Given the description of an element on the screen output the (x, y) to click on. 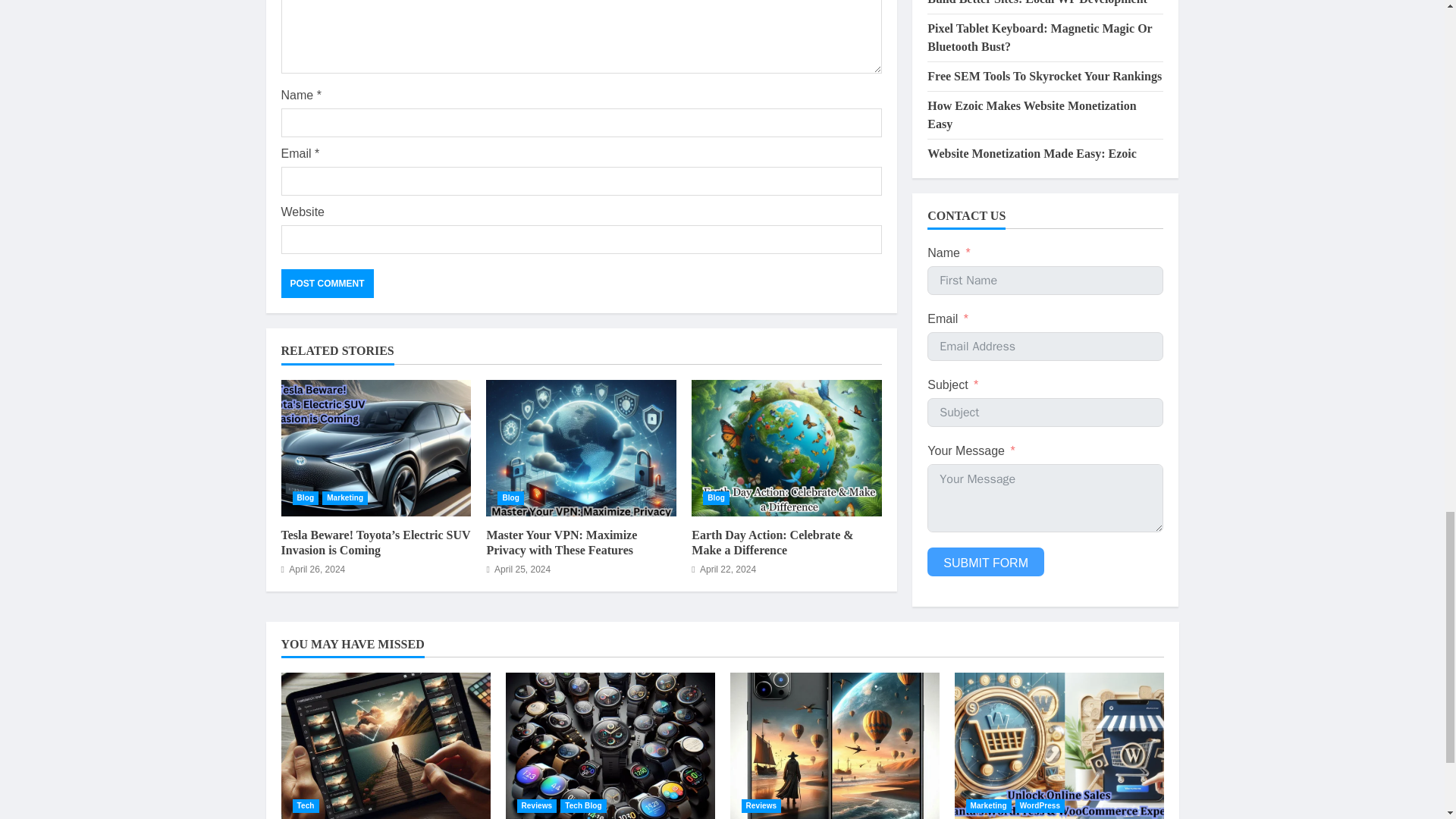
Marketing (344, 498)
Master Your VPN: Maximize Privacy with These Features (581, 448)
Post Comment (326, 283)
Blog (305, 498)
Post Comment (326, 283)
Blog (510, 498)
Blog (716, 498)
Master Your VPN: Maximize Privacy with These Features (561, 542)
